Given the description of an element on the screen output the (x, y) to click on. 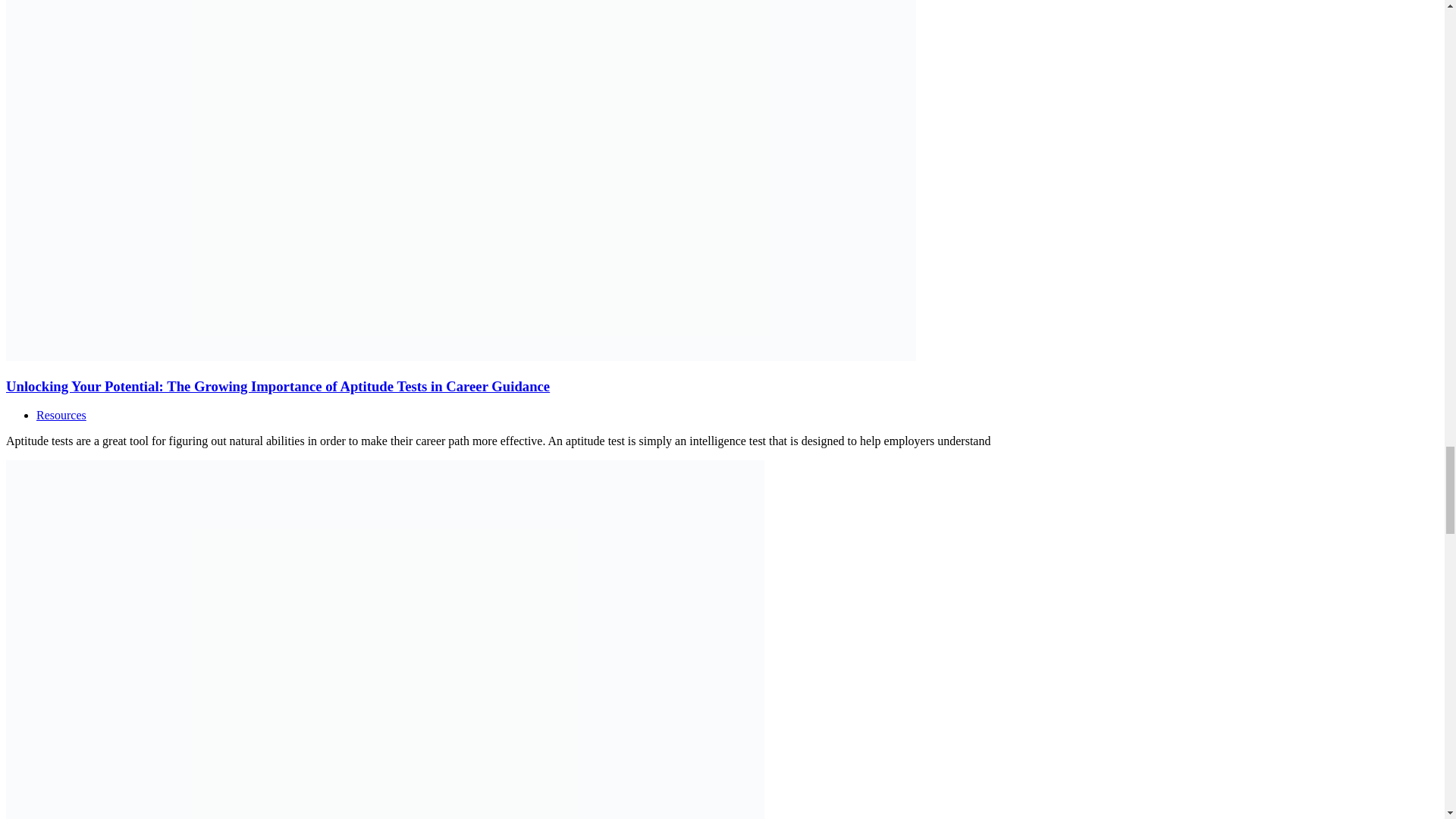
Resources (60, 414)
